Given the description of an element on the screen output the (x, y) to click on. 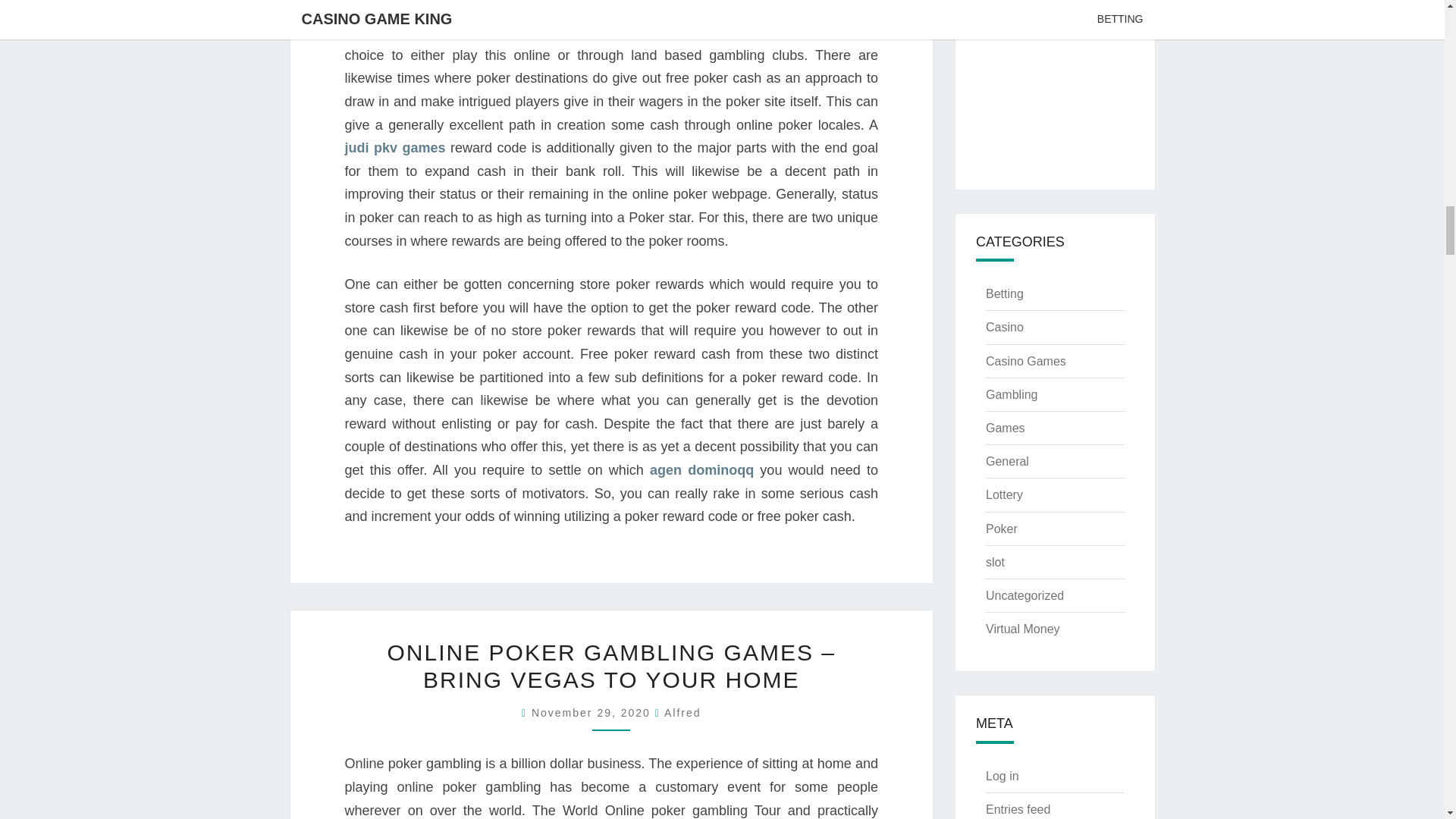
agen dominoqq (701, 469)
judi pkv games (394, 147)
November 29, 2020 (593, 712)
View all posts by Alfred (682, 712)
Alfred (682, 712)
5:54 am (593, 712)
